Given the description of an element on the screen output the (x, y) to click on. 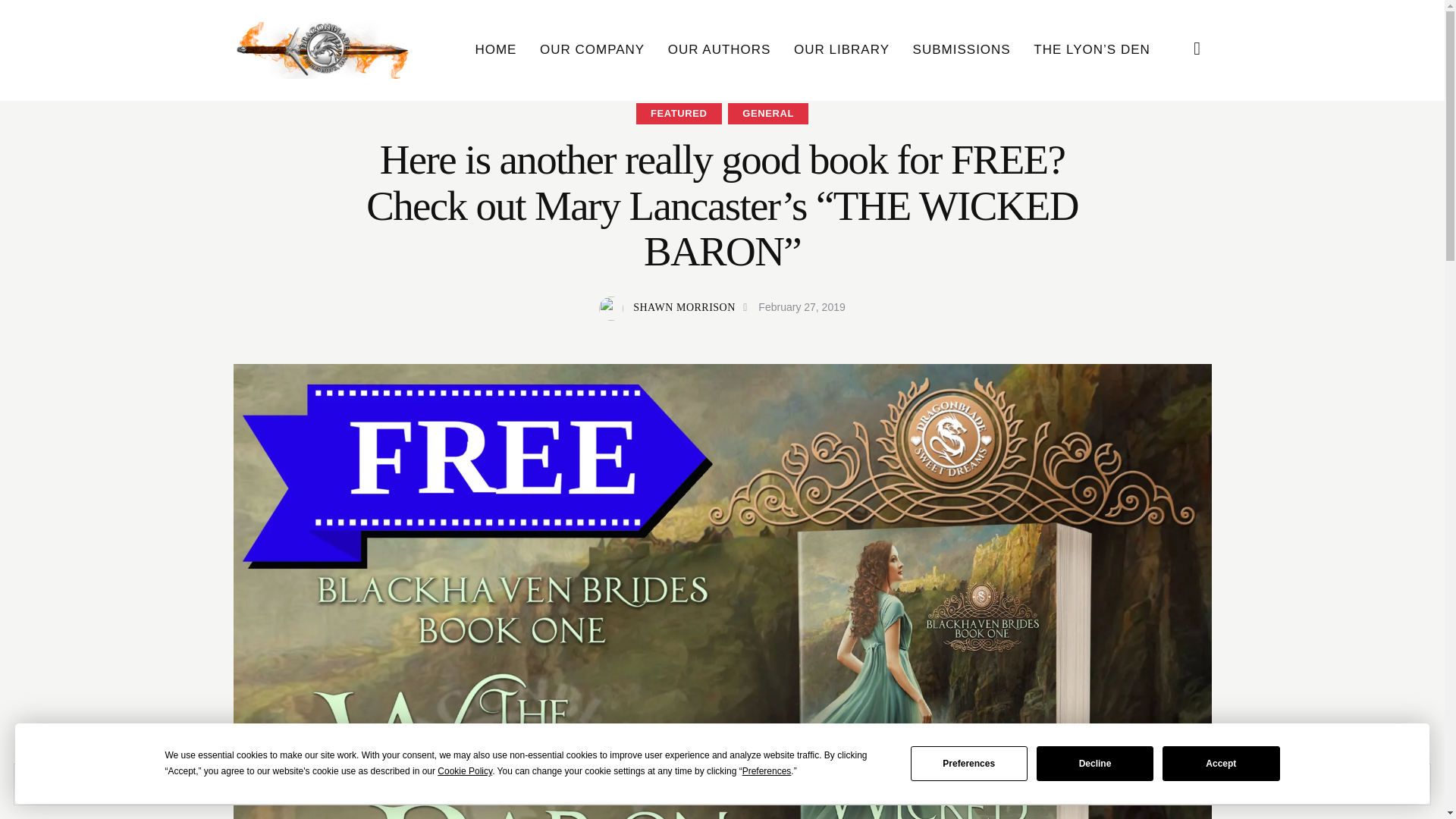
OUR COMPANY (592, 50)
SUBMISSIONS (961, 50)
OUR AUTHORS (718, 50)
Decline (1094, 763)
HOME (495, 50)
Preferences (969, 763)
OUR LIBRARY (842, 50)
Close and accept (1361, 784)
Accept (1220, 763)
